Given the description of an element on the screen output the (x, y) to click on. 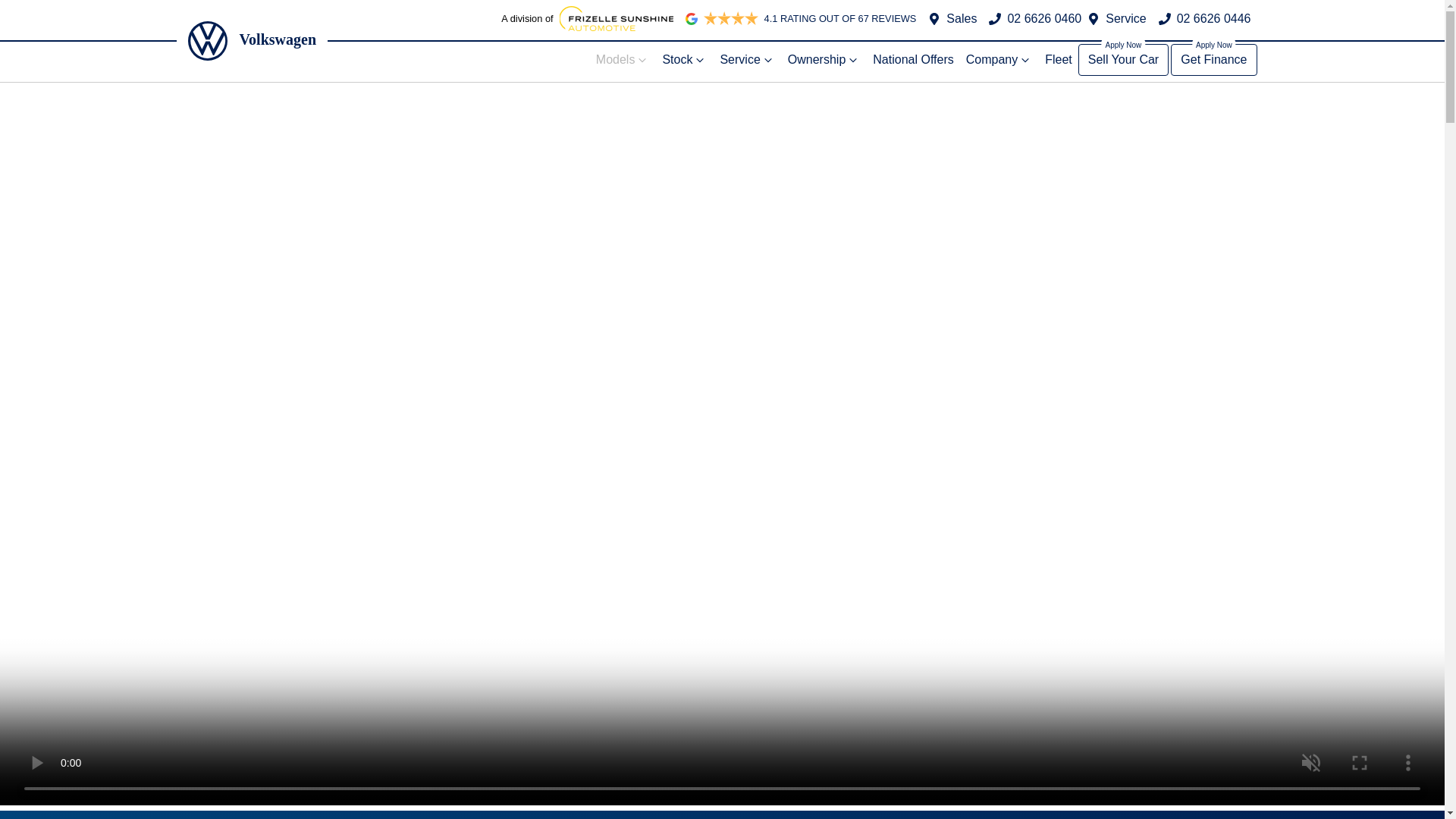
Company (999, 60)
Models (622, 60)
Ownership (823, 60)
Service (1125, 18)
A division of (586, 18)
Fleet (1058, 60)
Volkswagen (252, 40)
02 6626 0446 (1213, 18)
Service (746, 60)
Get Finance (1213, 60)
Sell Your Car (1123, 60)
National Offers (912, 60)
02 6626 0460 (1044, 18)
Stock (684, 60)
Sales (961, 18)
